Given the description of an element on the screen output the (x, y) to click on. 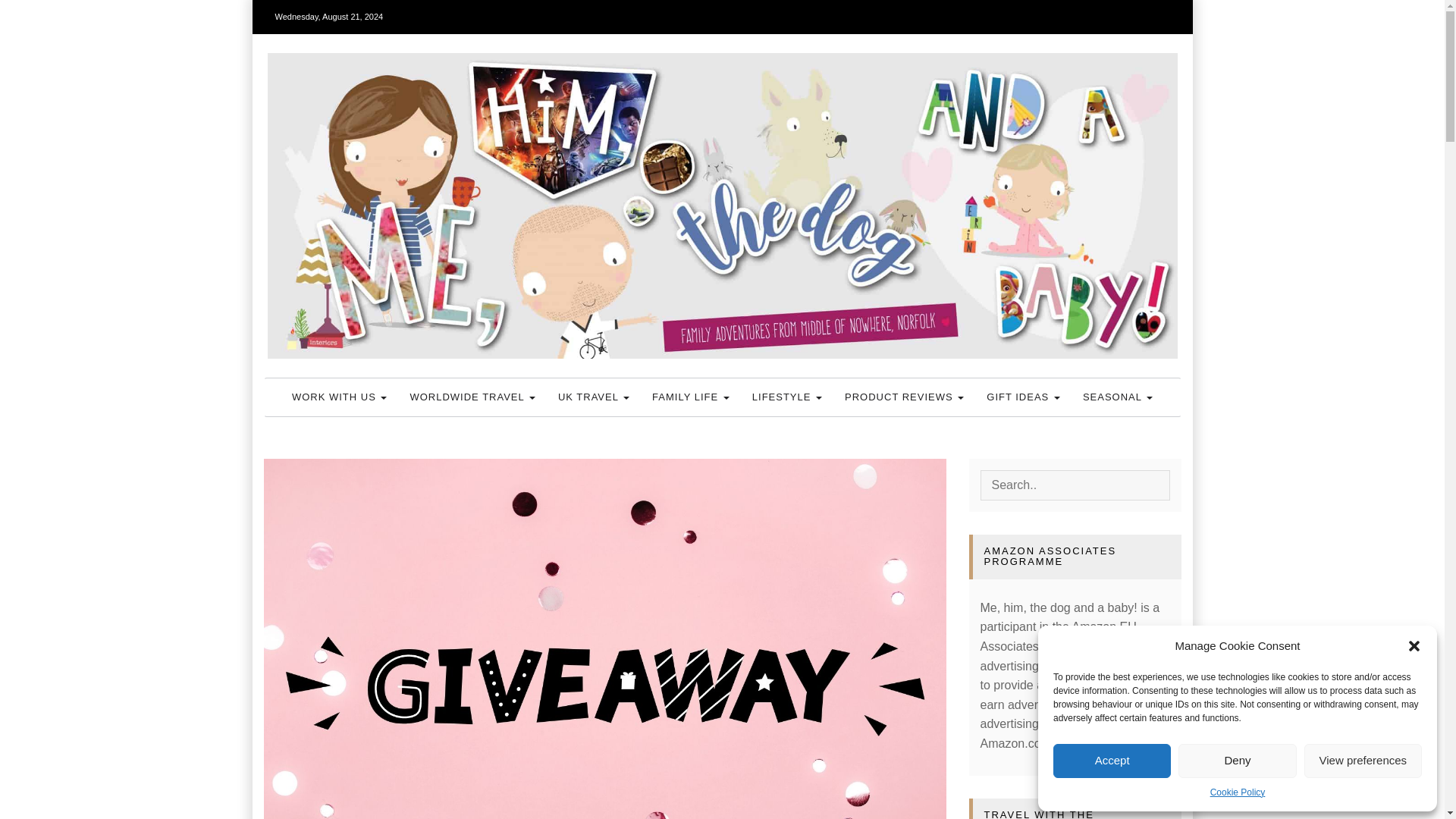
WORLDWIDE TRAVEL (471, 397)
Cookie Policy (1237, 792)
Work With Us (339, 397)
View preferences (1363, 760)
Deny (1236, 760)
WORK WITH US (339, 397)
Worldwide Travel (471, 397)
Accept (1111, 760)
